Given the description of an element on the screen output the (x, y) to click on. 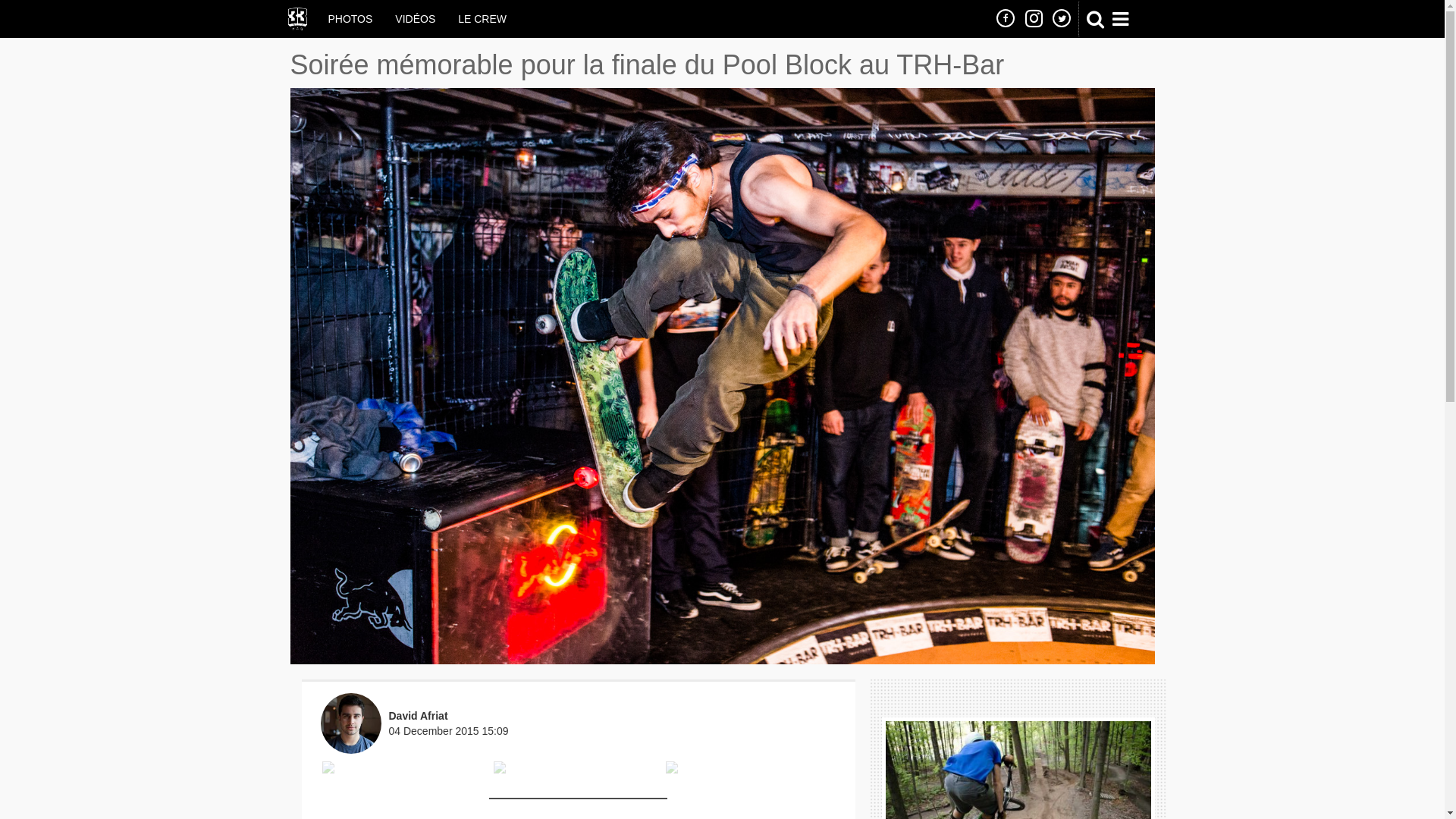
  Element type: text (1005, 18)
  Element type: text (1033, 18)
LE CREW Element type: text (481, 18)
PHOTOS Element type: text (349, 18)
  Element type: text (1061, 18)
